Given the description of an element on the screen output the (x, y) to click on. 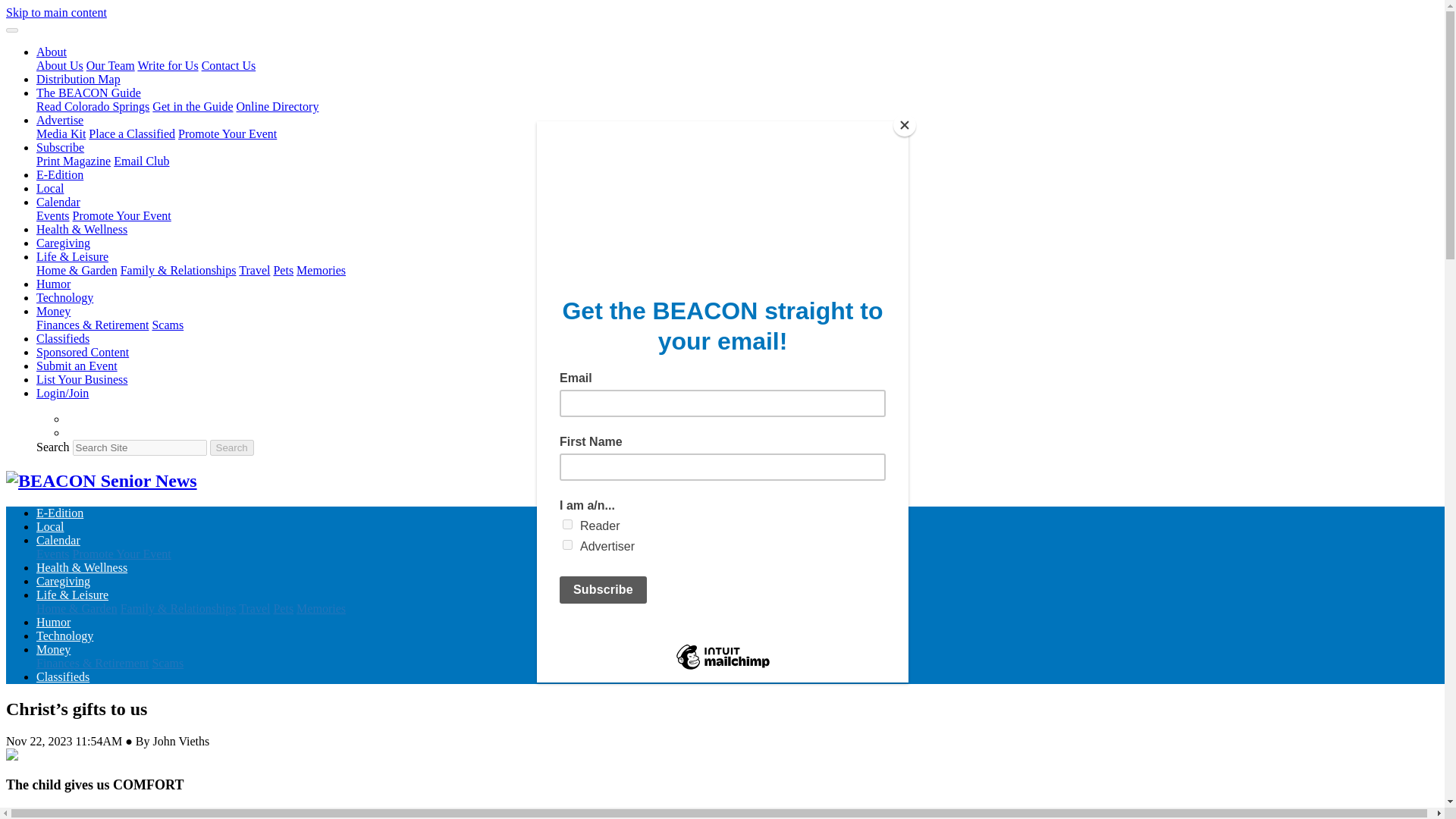
Technology (64, 297)
Distribution Map (78, 78)
About Us (59, 65)
Travel (253, 269)
Local (50, 187)
Scams (167, 324)
Humor (52, 283)
Place a Classified (131, 133)
Read Colorado Springs (92, 106)
Sponsored Content (82, 351)
Contact Us (229, 65)
Email Club (140, 160)
Media Kit (60, 133)
Write for Us (167, 65)
Print Magazine (73, 160)
